Given the description of an element on the screen output the (x, y) to click on. 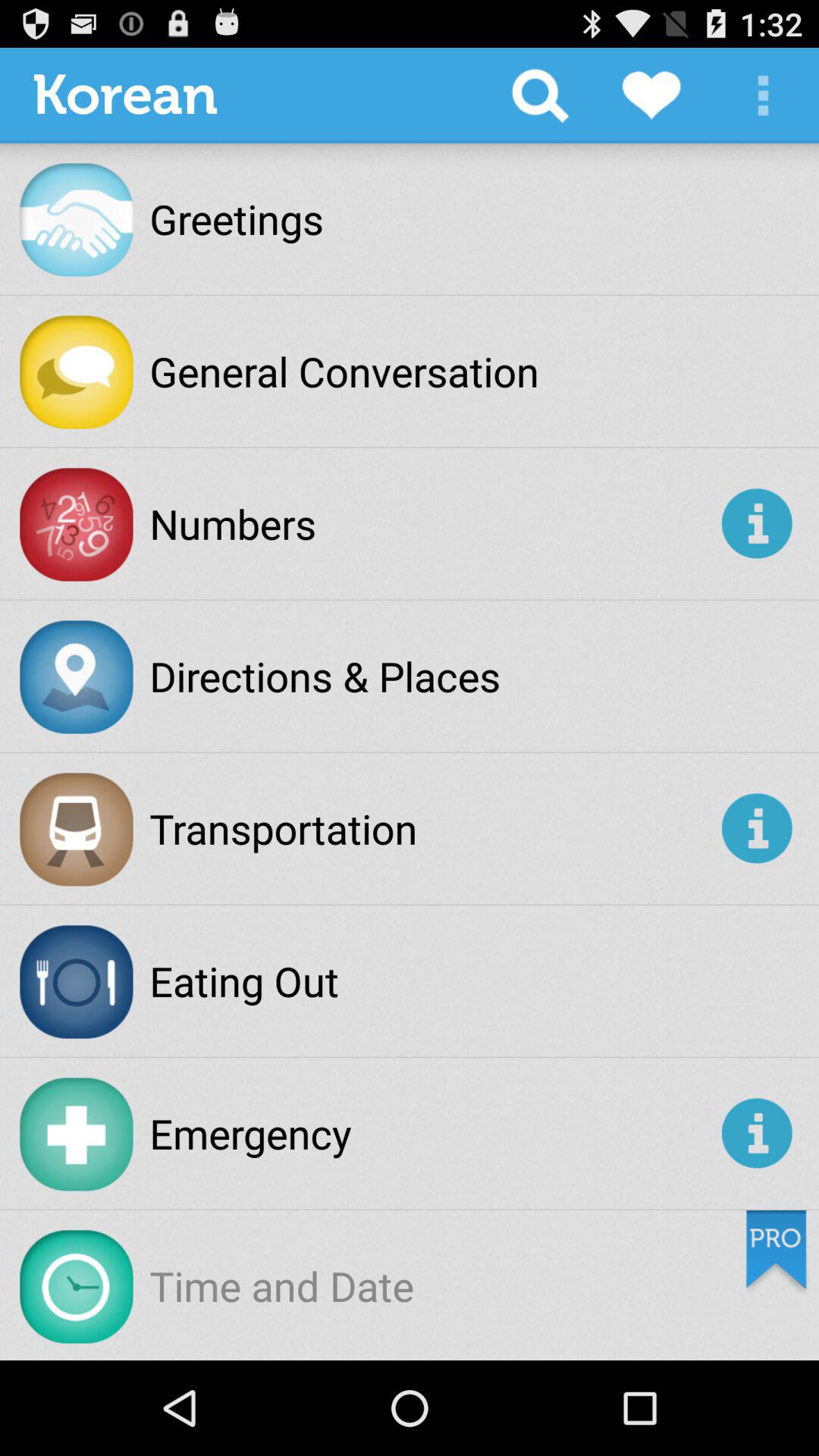
launch the greetings app (236, 218)
